Given the description of an element on the screen output the (x, y) to click on. 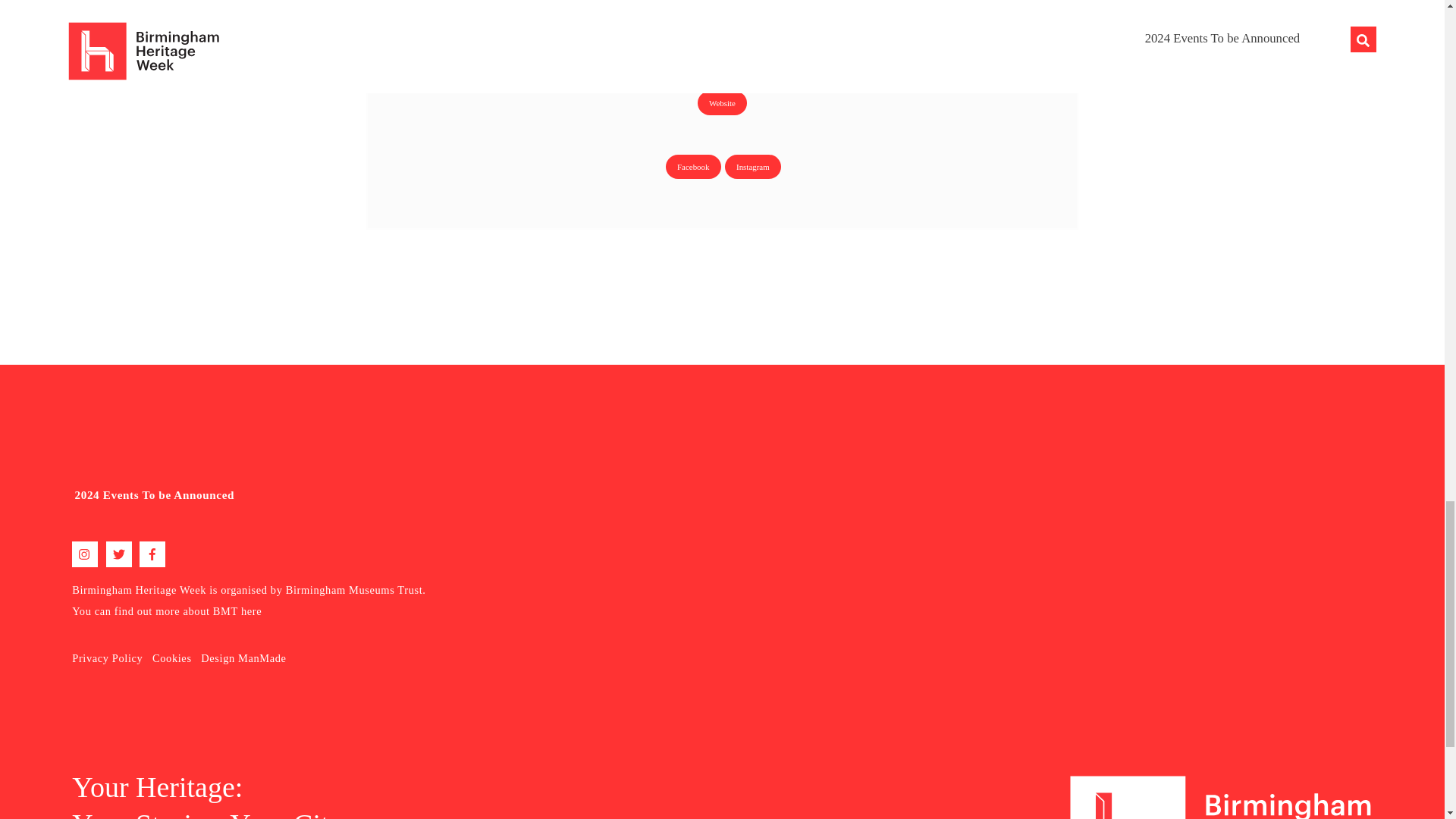
Facebook (692, 166)
ManMade (262, 657)
2024 Events To be Announced (378, 494)
2024 Events To be Announced (154, 494)
logo-white (1220, 796)
Website (721, 102)
Instagram (752, 166)
Privacy Policy (106, 657)
Cookies (172, 657)
here (251, 611)
